Given the description of an element on the screen output the (x, y) to click on. 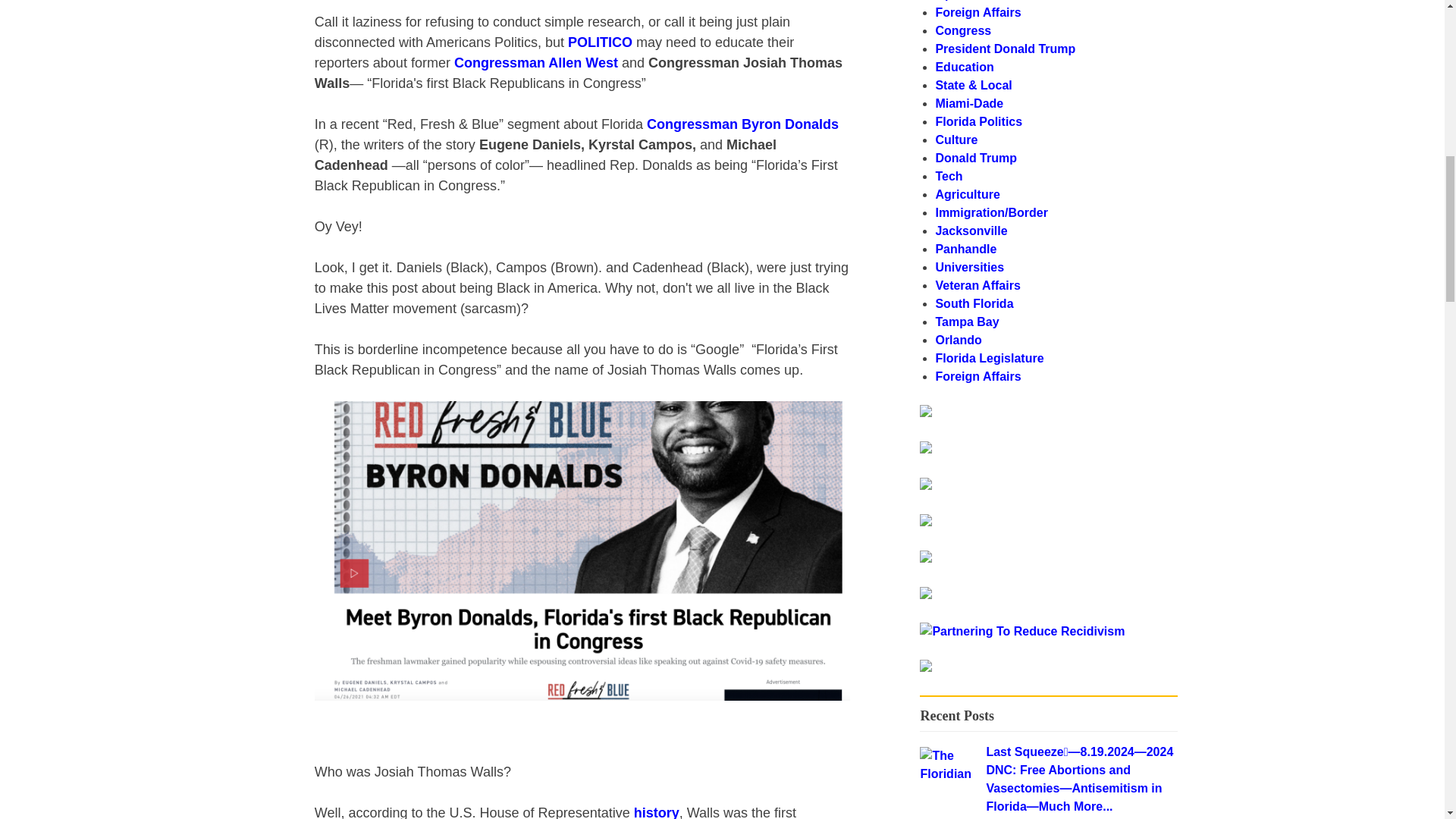
Search (1138, 419)
POLITICO (599, 42)
Search (1138, 419)
Search (1138, 419)
Partnering To Reduce Recidivism (1022, 631)
Partnering To Reduce Recidivism (1022, 631)
Partnering To Reduce Recidivism (925, 667)
Congressman Allen West (537, 62)
Partnering To Reduce Recidivism (925, 412)
Congressman Byron Donalds (742, 124)
